Given the description of an element on the screen output the (x, y) to click on. 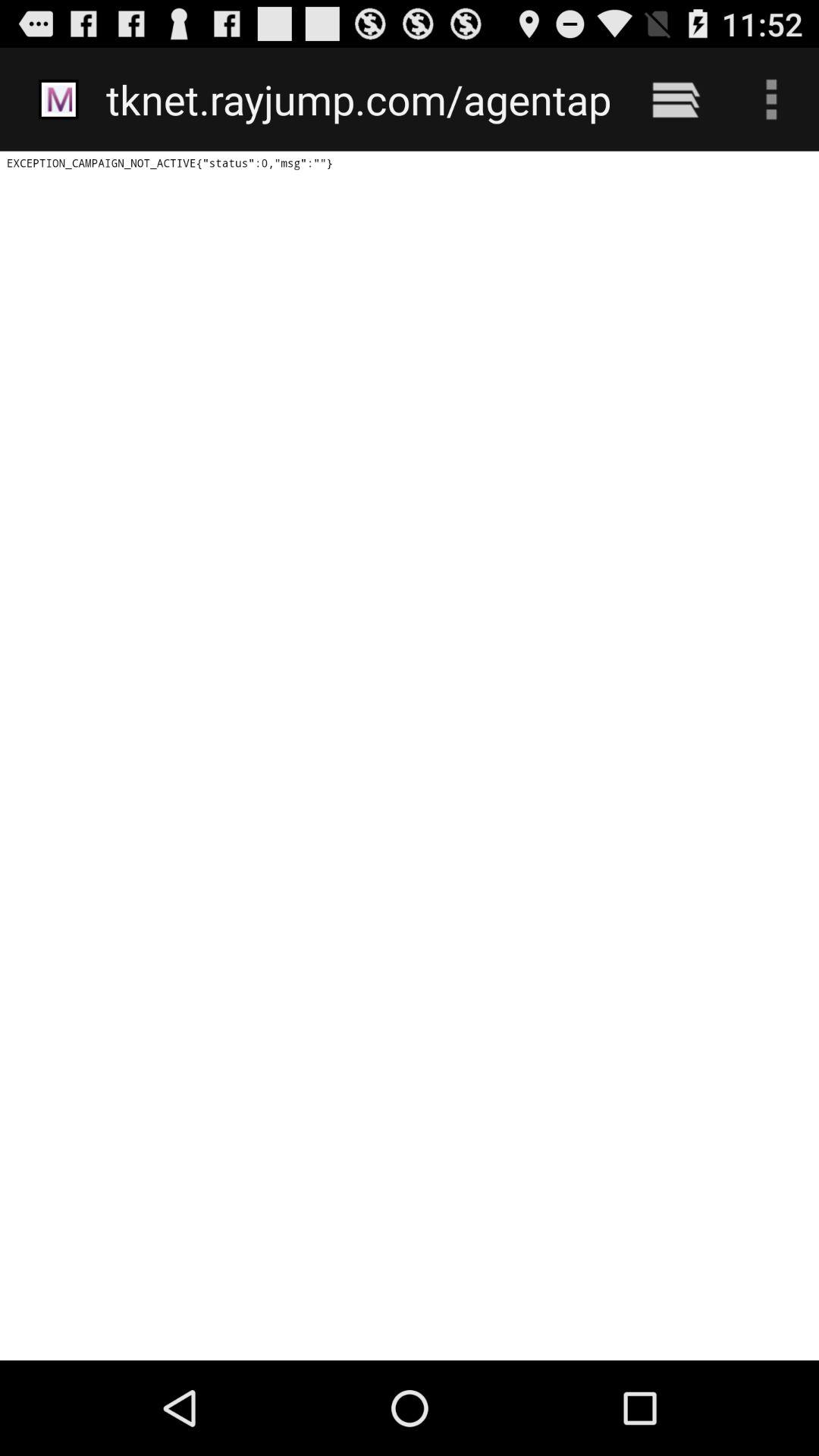
tap the icon next to the tknet rayjump com icon (675, 99)
